Given the description of an element on the screen output the (x, y) to click on. 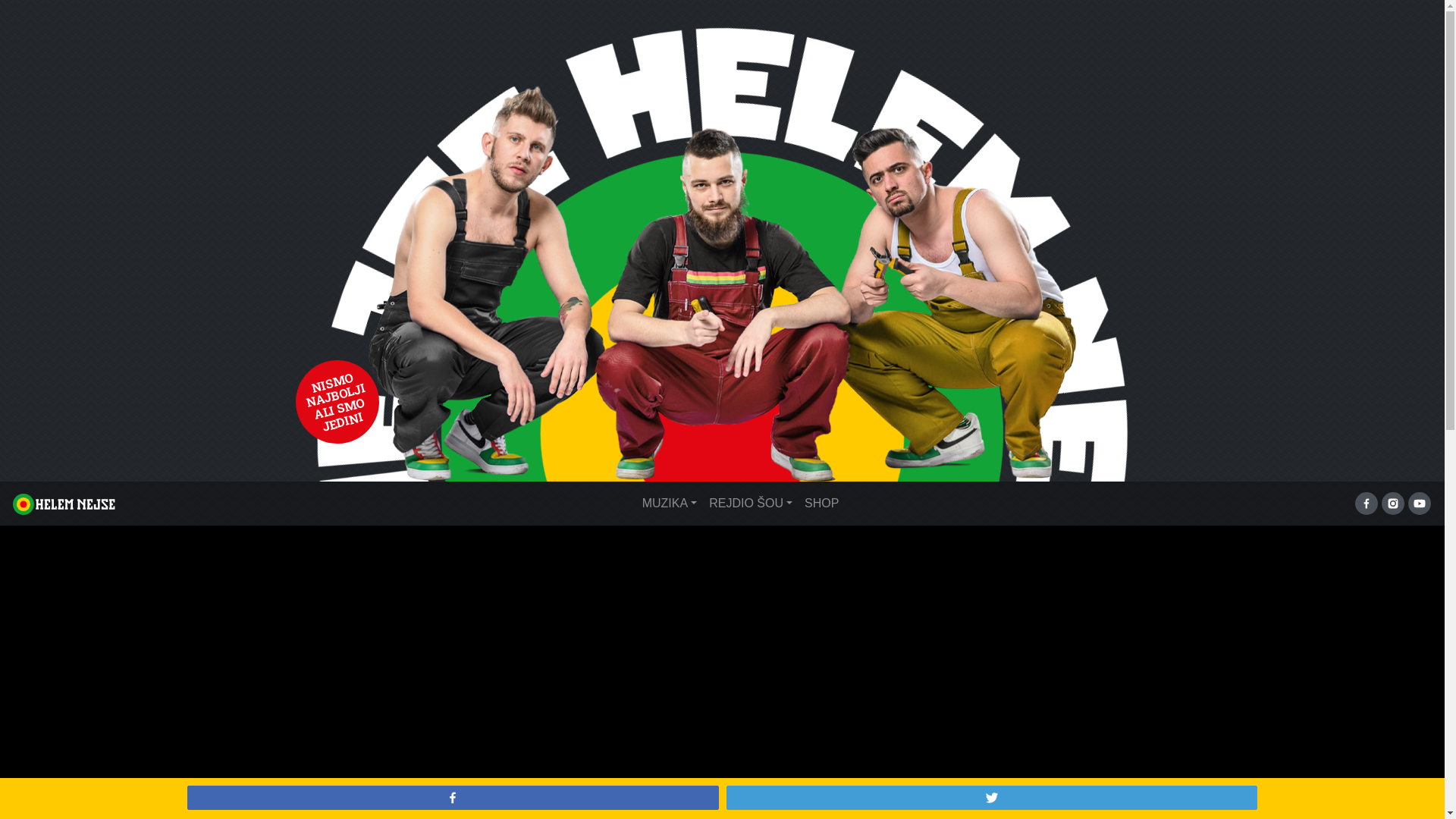
SHOP Element type: text (821, 503)
MUZIKA Element type: text (669, 503)
